Given the description of an element on the screen output the (x, y) to click on. 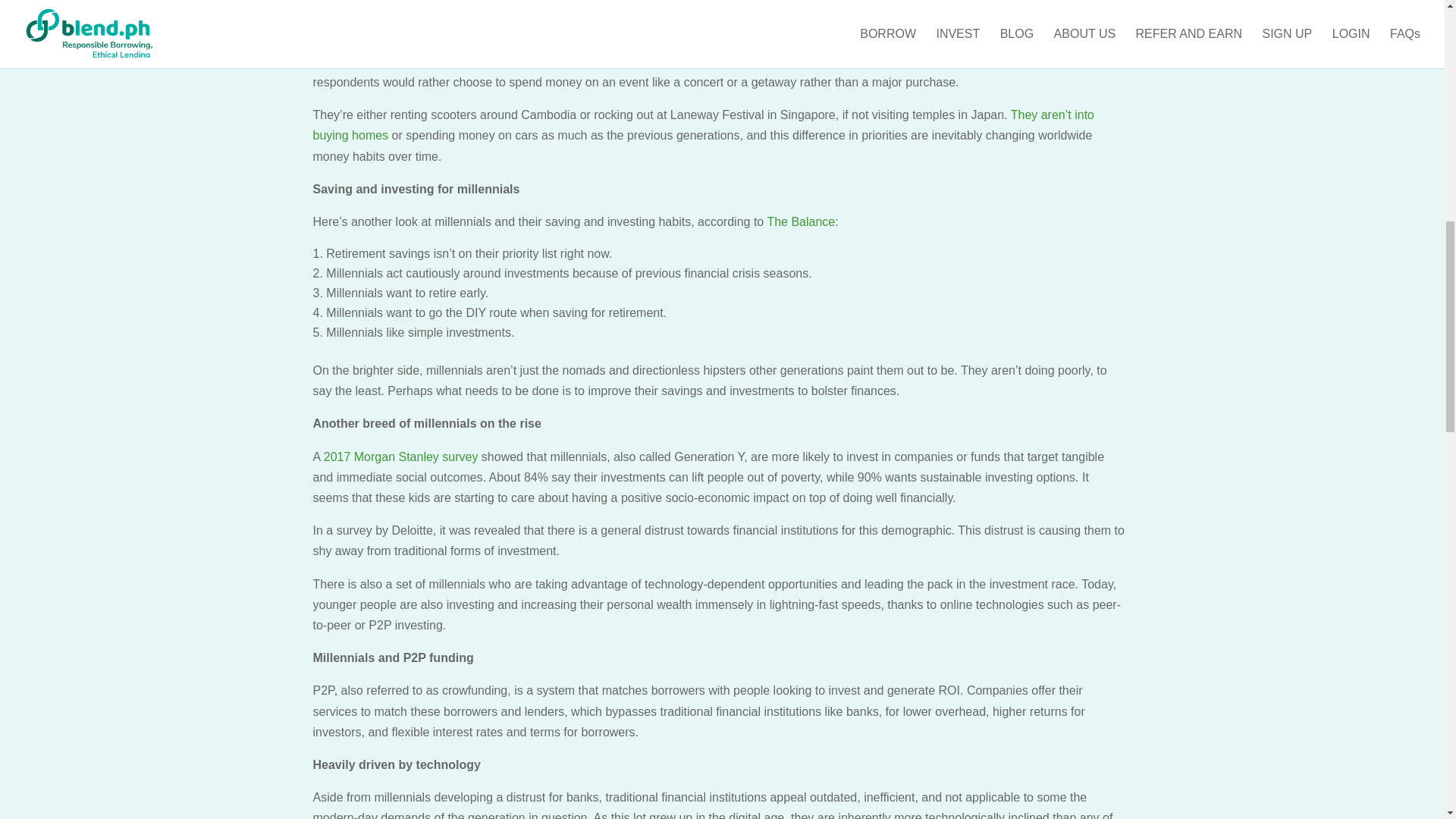
The Balance (800, 221)
2017 Morgan Stanley survey (401, 456)
2014 Evenbrite poll (791, 61)
